Given the description of an element on the screen output the (x, y) to click on. 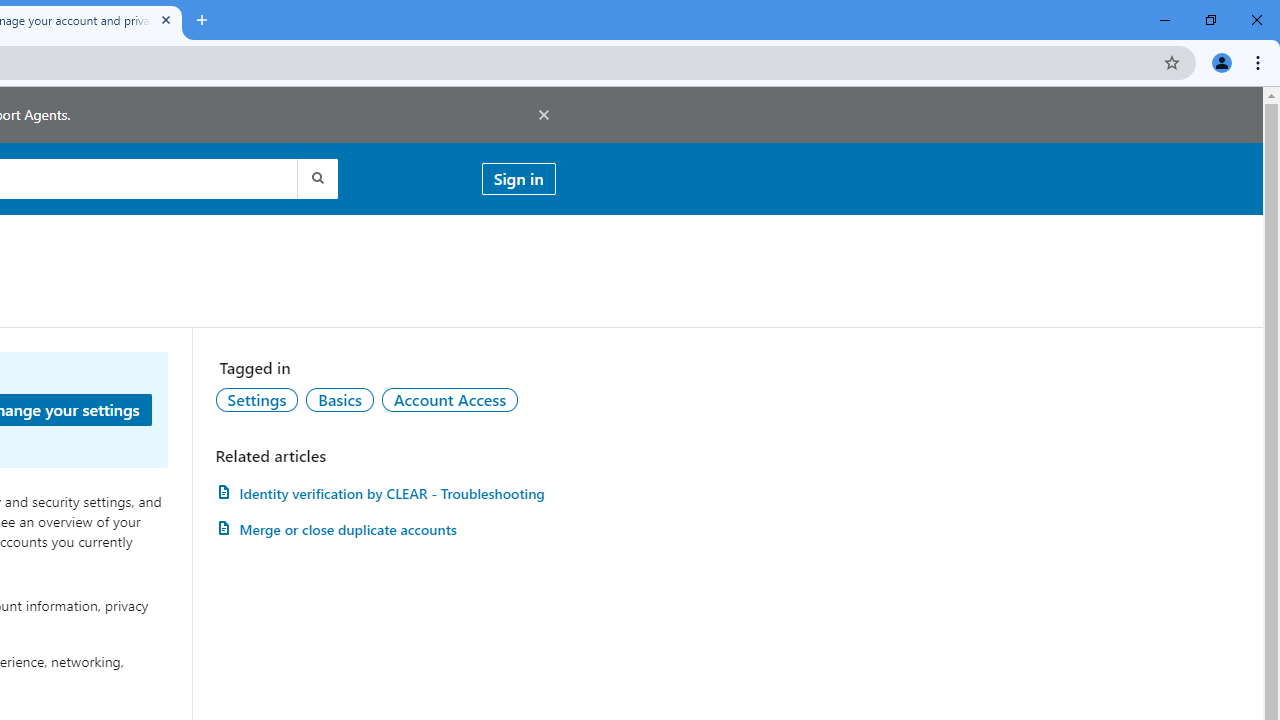
AutomationID: article-link-a1457505 (385, 493)
Basics (339, 399)
Submit search (316, 178)
AutomationID: topic-link-a151002 (449, 399)
Settings (257, 399)
AutomationID: article-link-a1337200 (385, 529)
Identity verification by CLEAR - Troubleshooting (385, 493)
AutomationID: topic-link-a51 (339, 399)
